Given the description of an element on the screen output the (x, y) to click on. 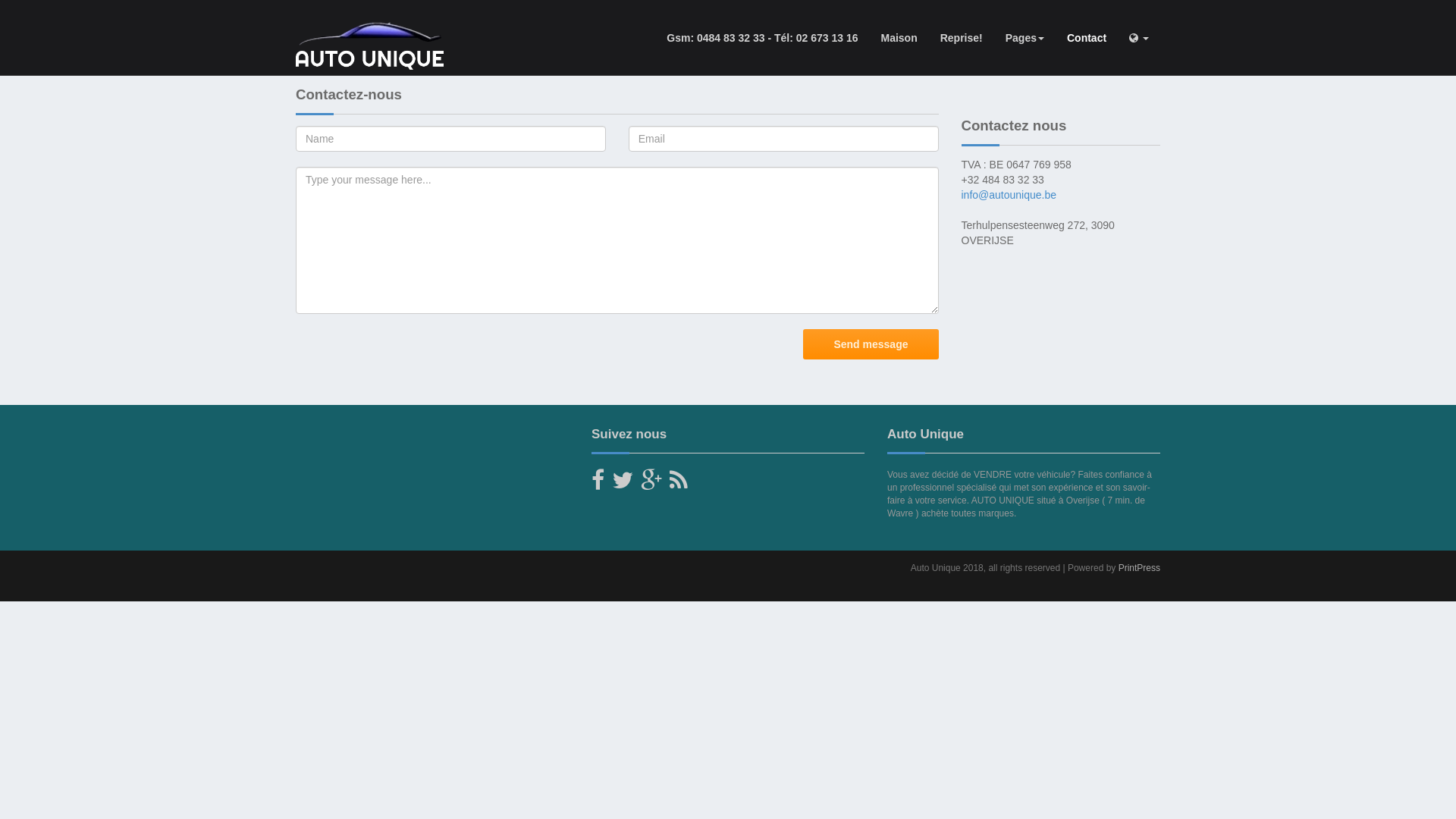
Send message Element type: text (870, 344)
Maison Element type: text (898, 37)
Reprise! Element type: text (961, 37)
info@autounique.be Element type: text (1009, 194)
Contact Element type: text (1086, 37)
Pages Element type: text (1024, 37)
PrintPress Element type: text (1139, 567)
